Given the description of an element on the screen output the (x, y) to click on. 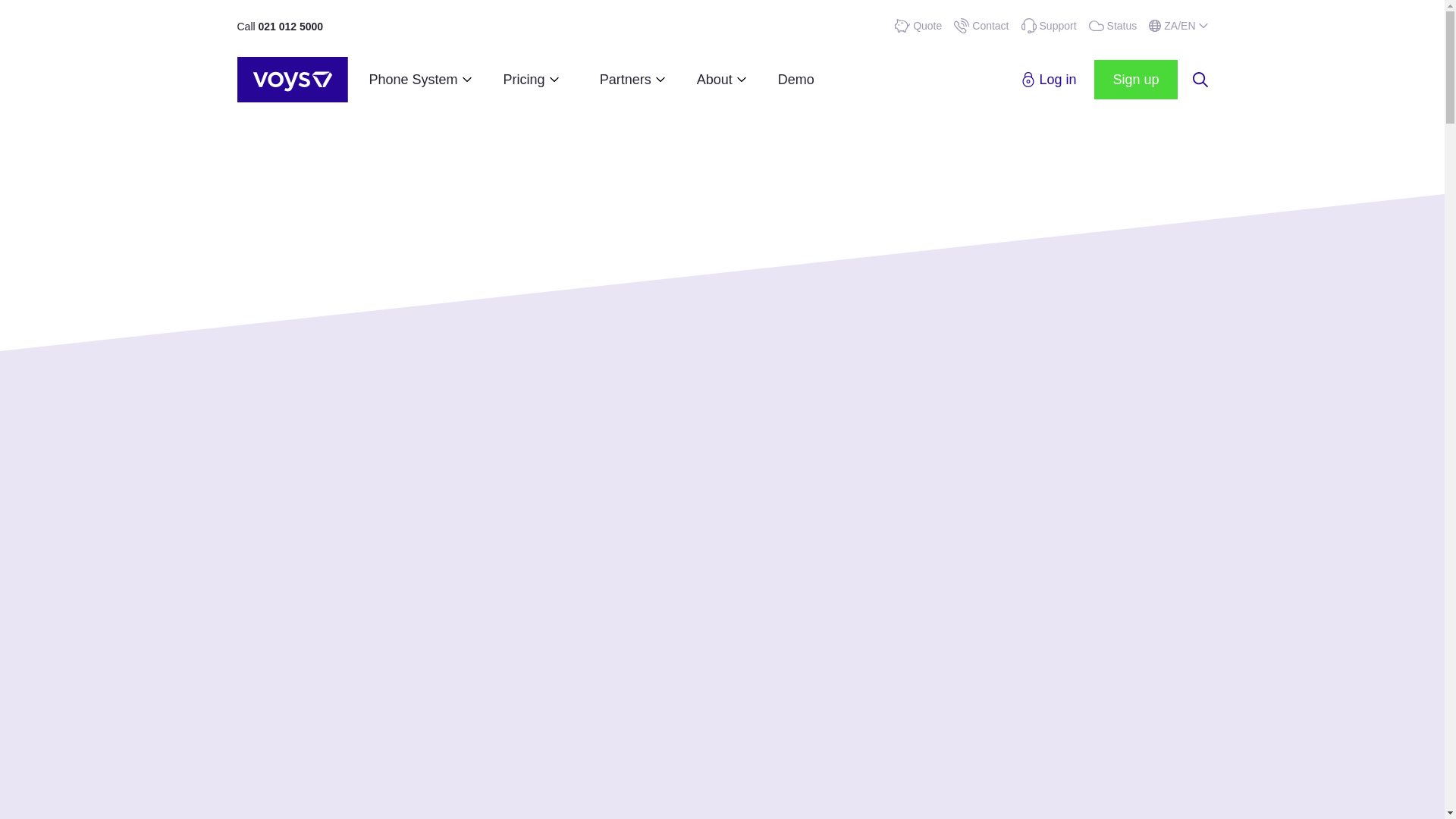
Partners (624, 79)
Phone System (413, 79)
Quote (918, 25)
About (714, 79)
Pricing (523, 79)
Support (1049, 25)
Status (1113, 25)
Contact (981, 25)
